Given the description of an element on the screen output the (x, y) to click on. 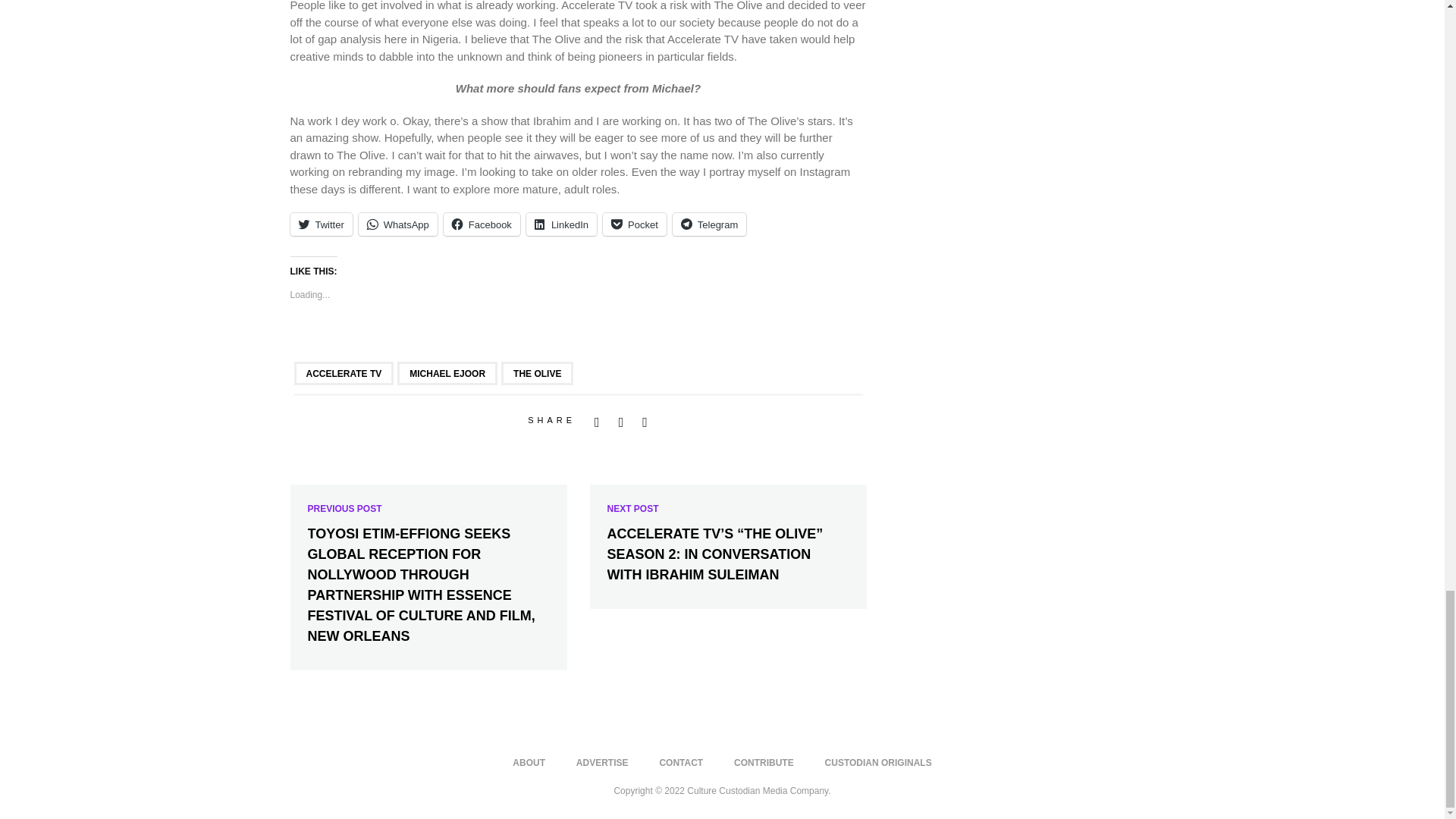
Click to share on Telegram (708, 223)
Click to share on LinkedIn (560, 223)
Click to share on Twitter (320, 223)
Click to share on WhatsApp (398, 223)
Click to share on Facebook (481, 223)
Click to share on Pocket (634, 223)
